Given the description of an element on the screen output the (x, y) to click on. 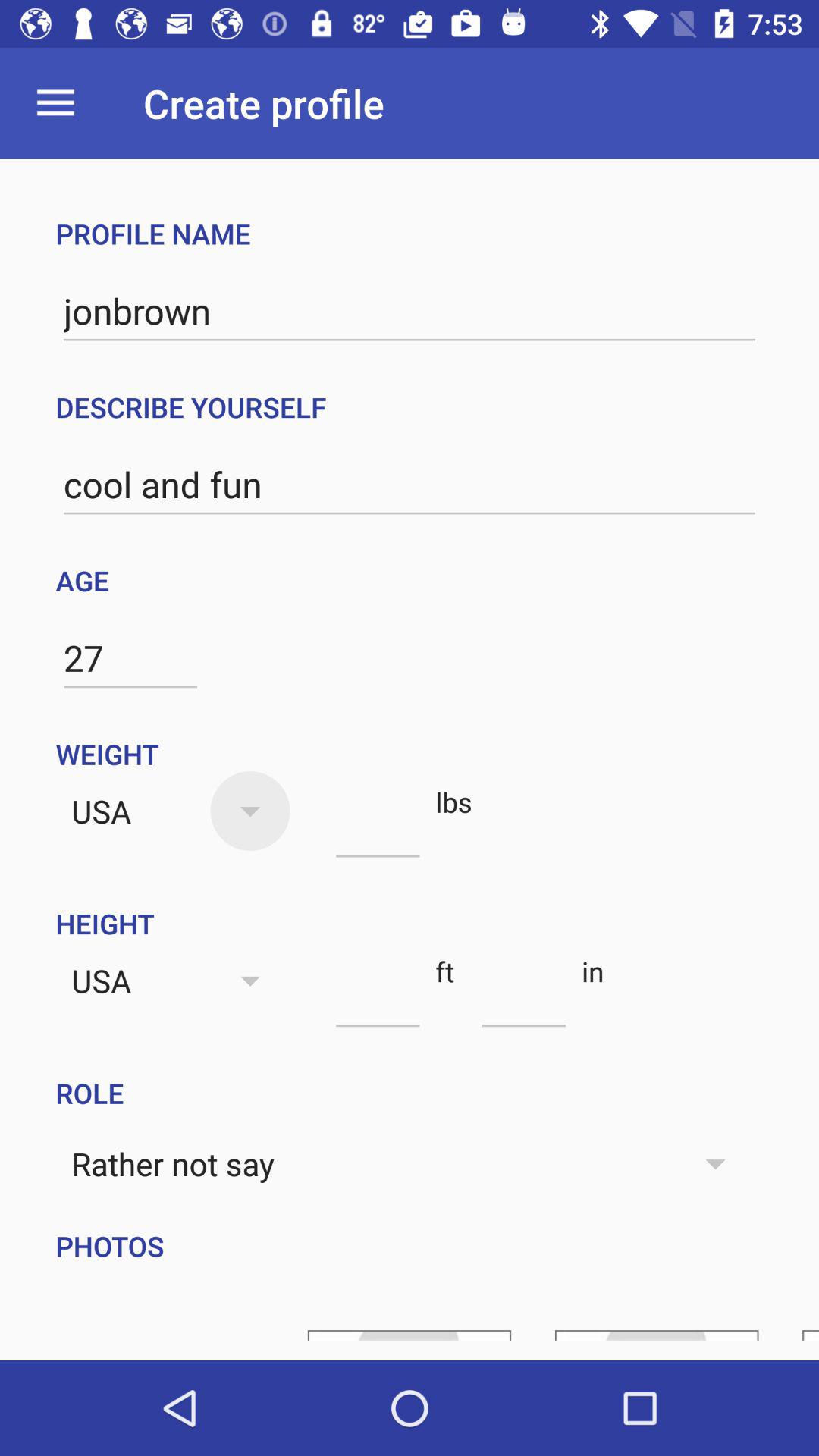
enter number of inches (523, 999)
